Given the description of an element on the screen output the (x, y) to click on. 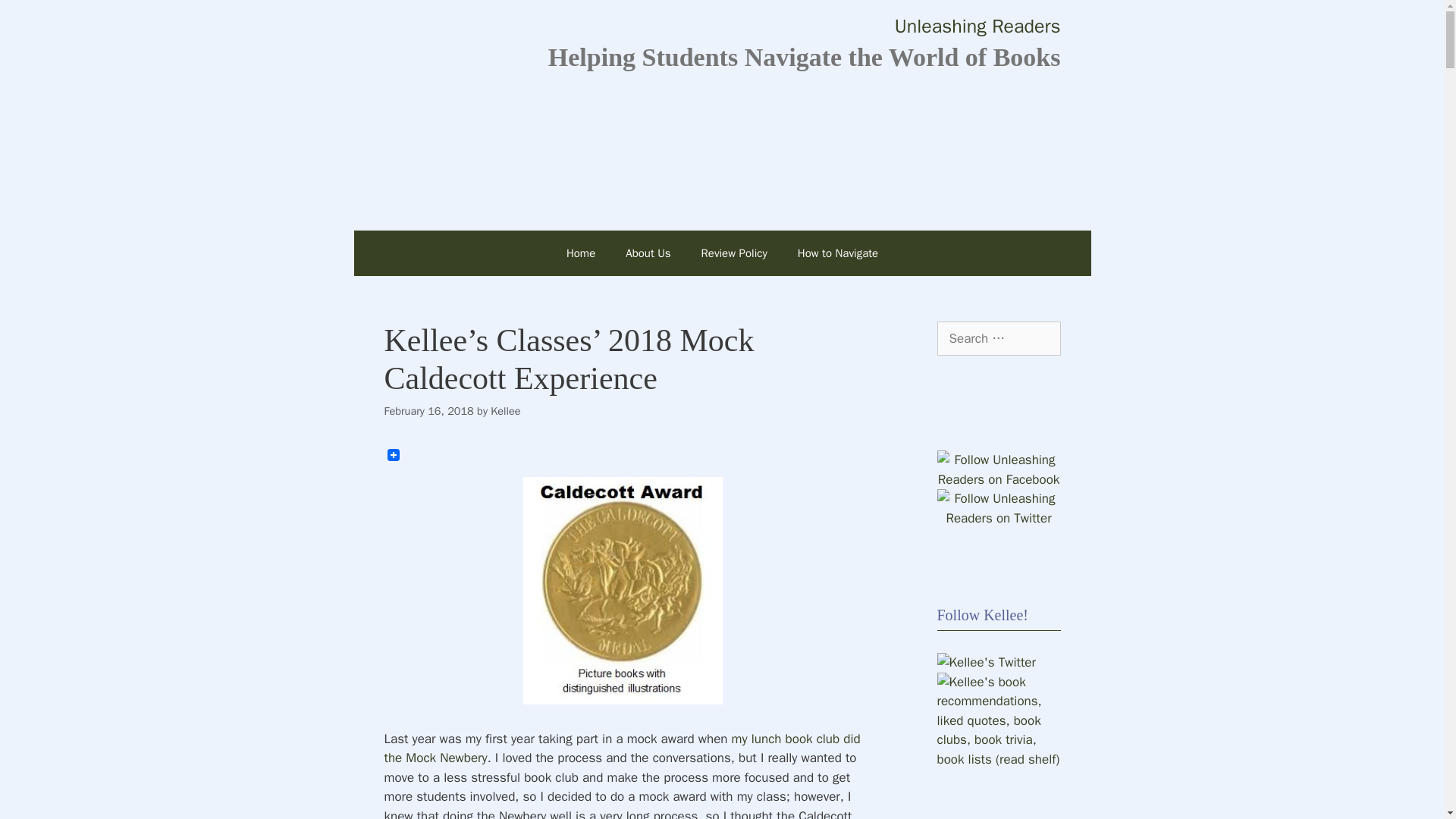
View all posts by Kellee (504, 410)
Follow Unleashing Readers on Twitter (999, 518)
About Us (647, 253)
Unleashing Readers (978, 25)
Search for: (999, 338)
my lunch book club did the Mock Newbery (622, 748)
Kellee's Twitter (986, 662)
Home (580, 253)
Review Policy (734, 253)
Kellee (504, 410)
Follow Unleashing Readers on Facebook (999, 479)
How to Navigate (838, 253)
